Given the description of an element on the screen output the (x, y) to click on. 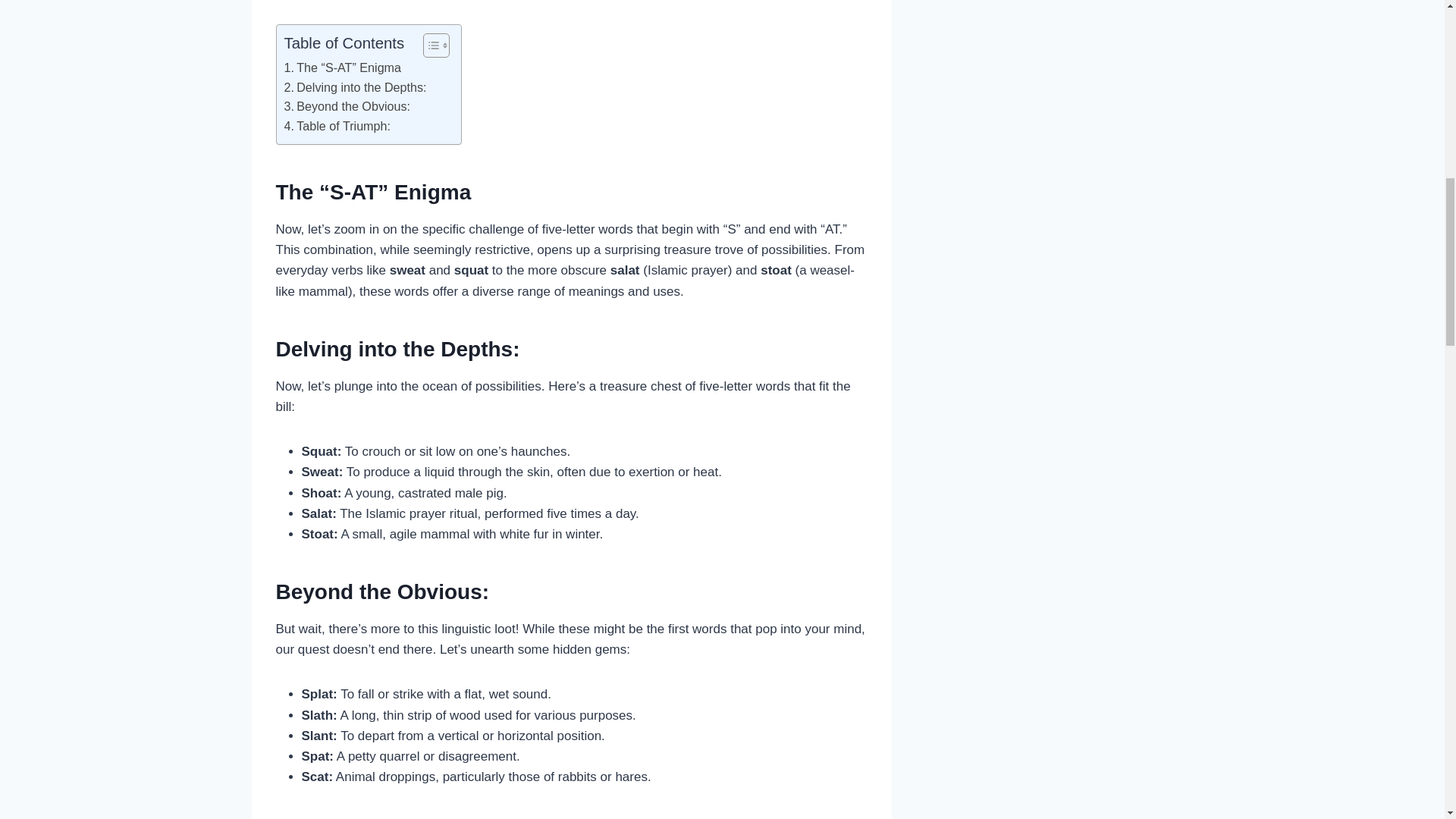
Table of Triumph: (336, 126)
Delving into the Depths: (354, 86)
Table of Triumph: (336, 126)
Delving into the Depths: (354, 86)
Beyond the Obvious: (346, 107)
Beyond the Obvious: (346, 107)
